Given the description of an element on the screen output the (x, y) to click on. 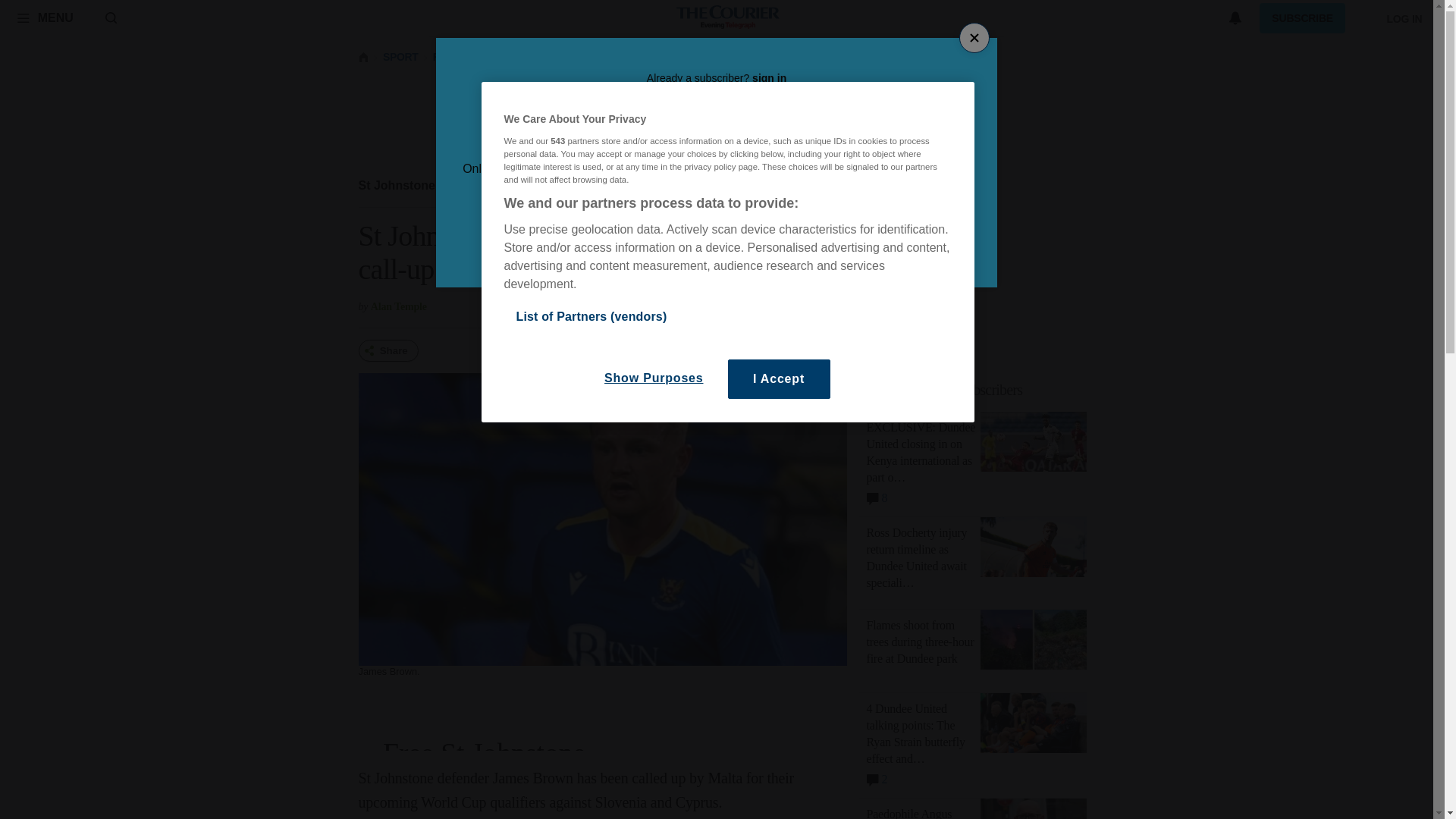
Exclusive to our subscribers (981, 389)
Exclusive to our subscribers (406, 185)
8 (944, 389)
The Courier (876, 495)
2 (727, 17)
MENU (876, 776)
